Given the description of an element on the screen output the (x, y) to click on. 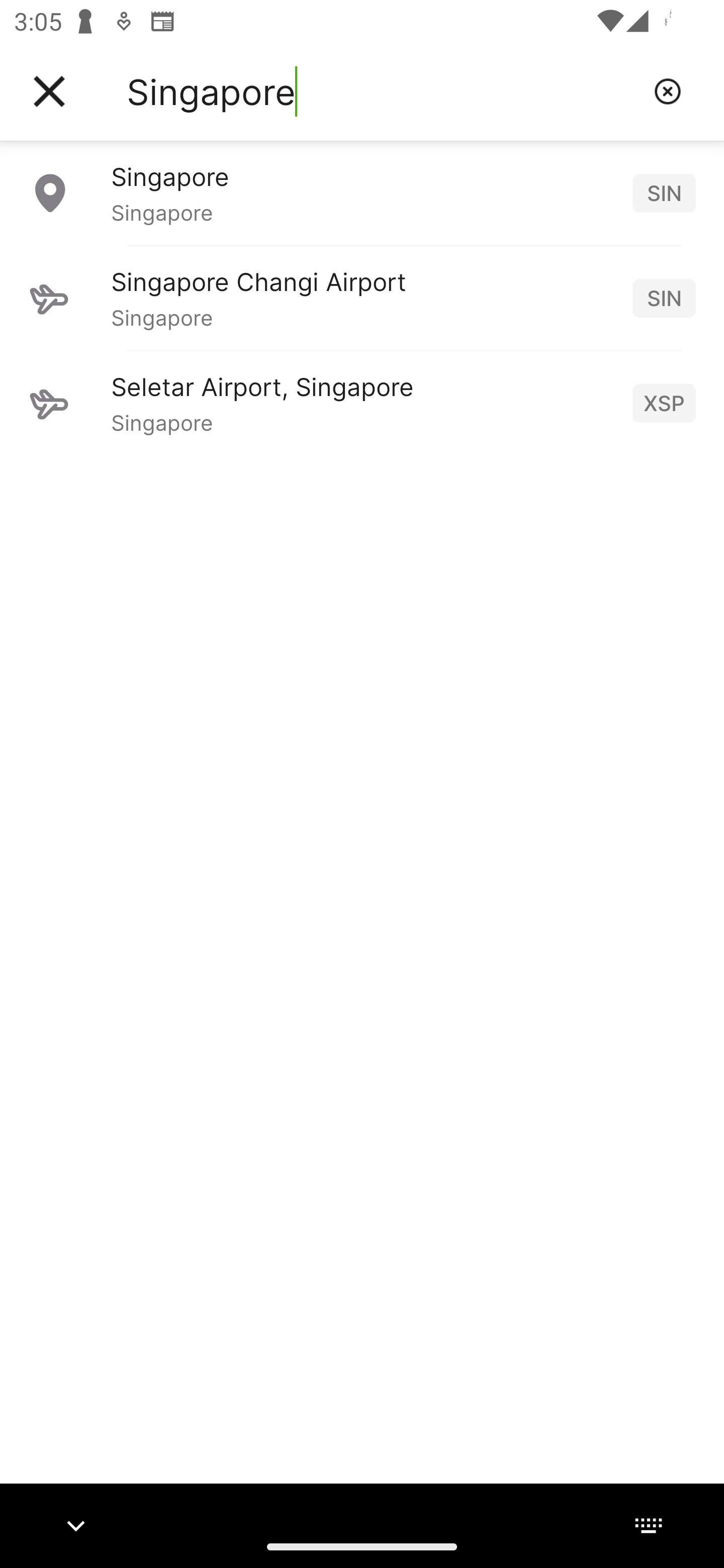
Singapore (382, 91)
Singapore Singapore SIN (362, 192)
Singapore Changi Airport Singapore SIN (362, 297)
Seletar Airport, Singapore Singapore XSP (362, 402)
